Given the description of an element on the screen output the (x, y) to click on. 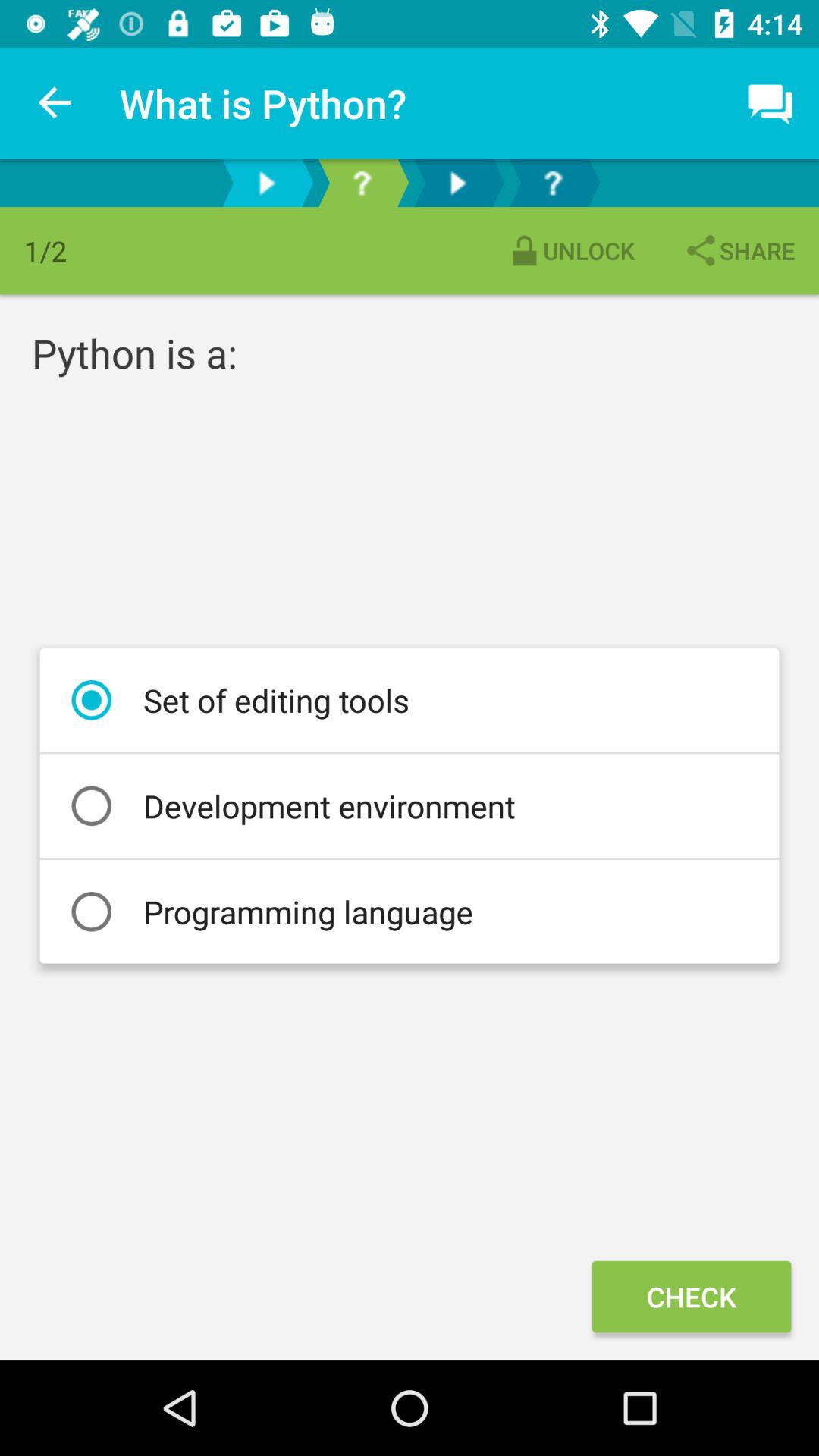
launch the icon next to the what is python? icon (55, 103)
